Given the description of an element on the screen output the (x, y) to click on. 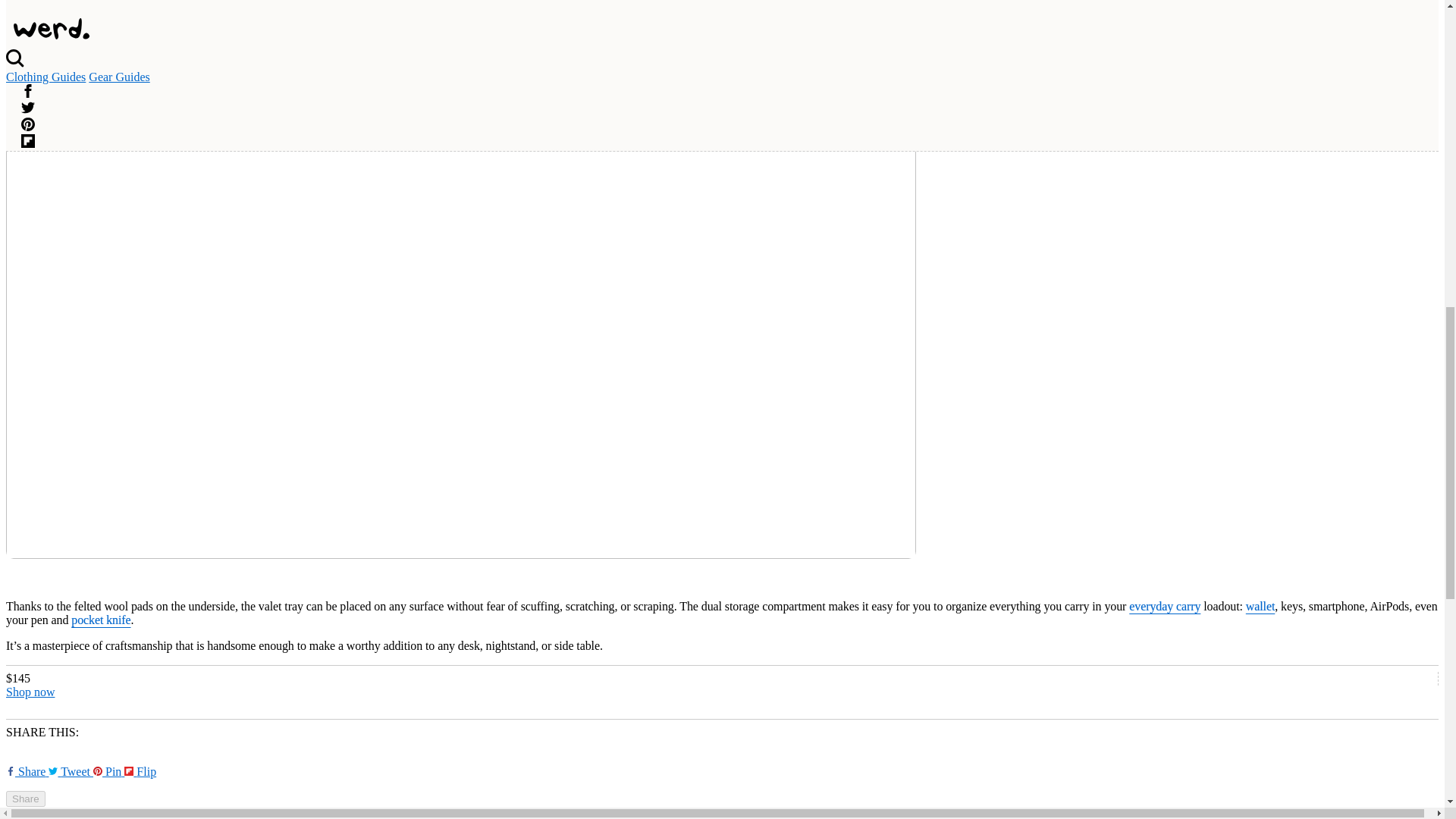
Pinterest Pin (108, 771)
twitter Tweet (70, 771)
Facebook Like (26, 771)
Twitter Tweet (70, 771)
Pin (108, 771)
everyday carry (1164, 605)
pocket knife (101, 619)
facebook Share (26, 771)
facebook (9, 770)
wallet (1260, 605)
